Given the description of an element on the screen output the (x, y) to click on. 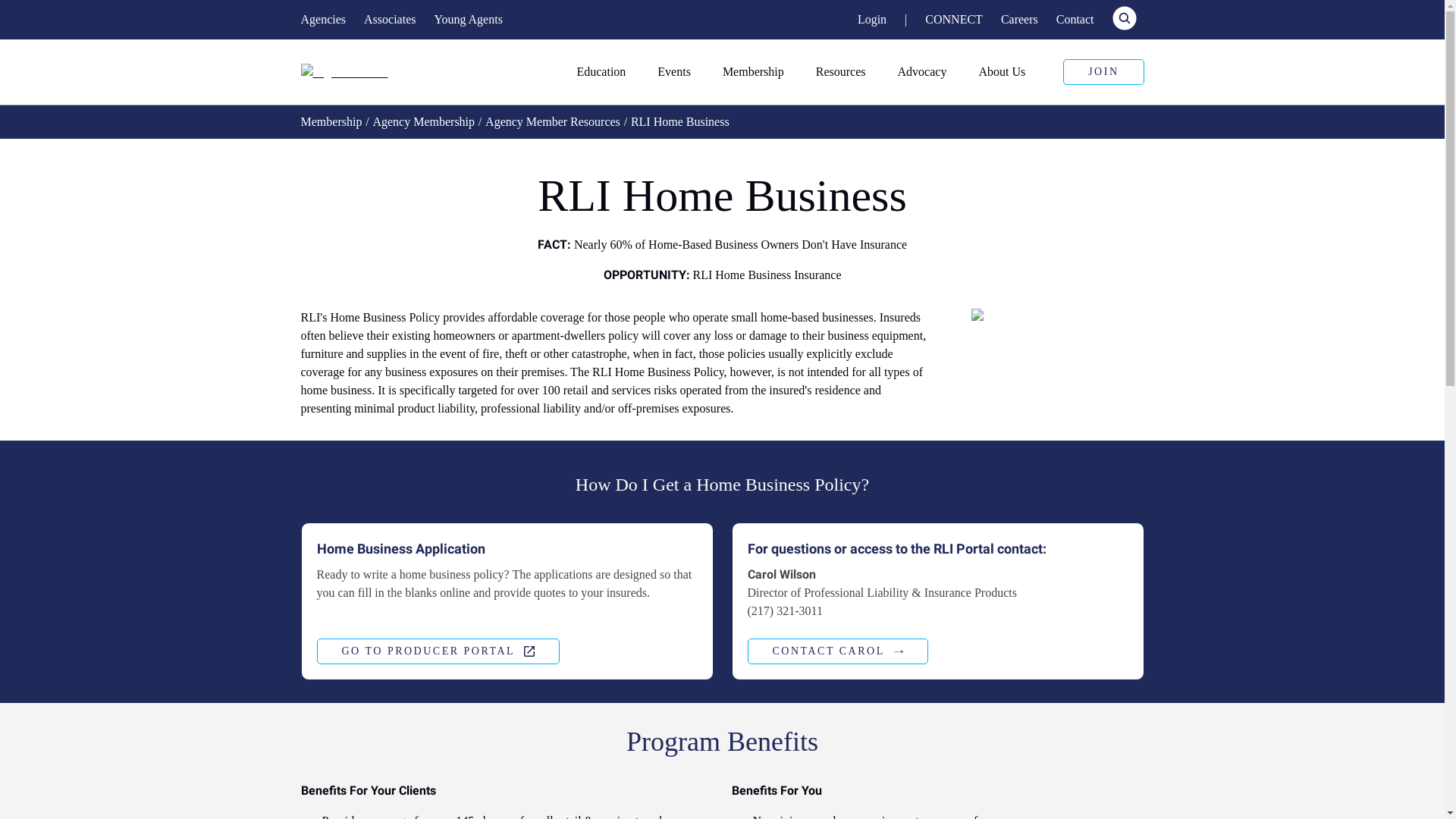
Membership (759, 71)
Login (871, 19)
Young Agents (467, 19)
Associates (389, 19)
Events (680, 71)
Careers (1019, 19)
Education (607, 71)
Agencies (322, 19)
Contact (1075, 19)
CONNECT (953, 19)
